Given the description of an element on the screen output the (x, y) to click on. 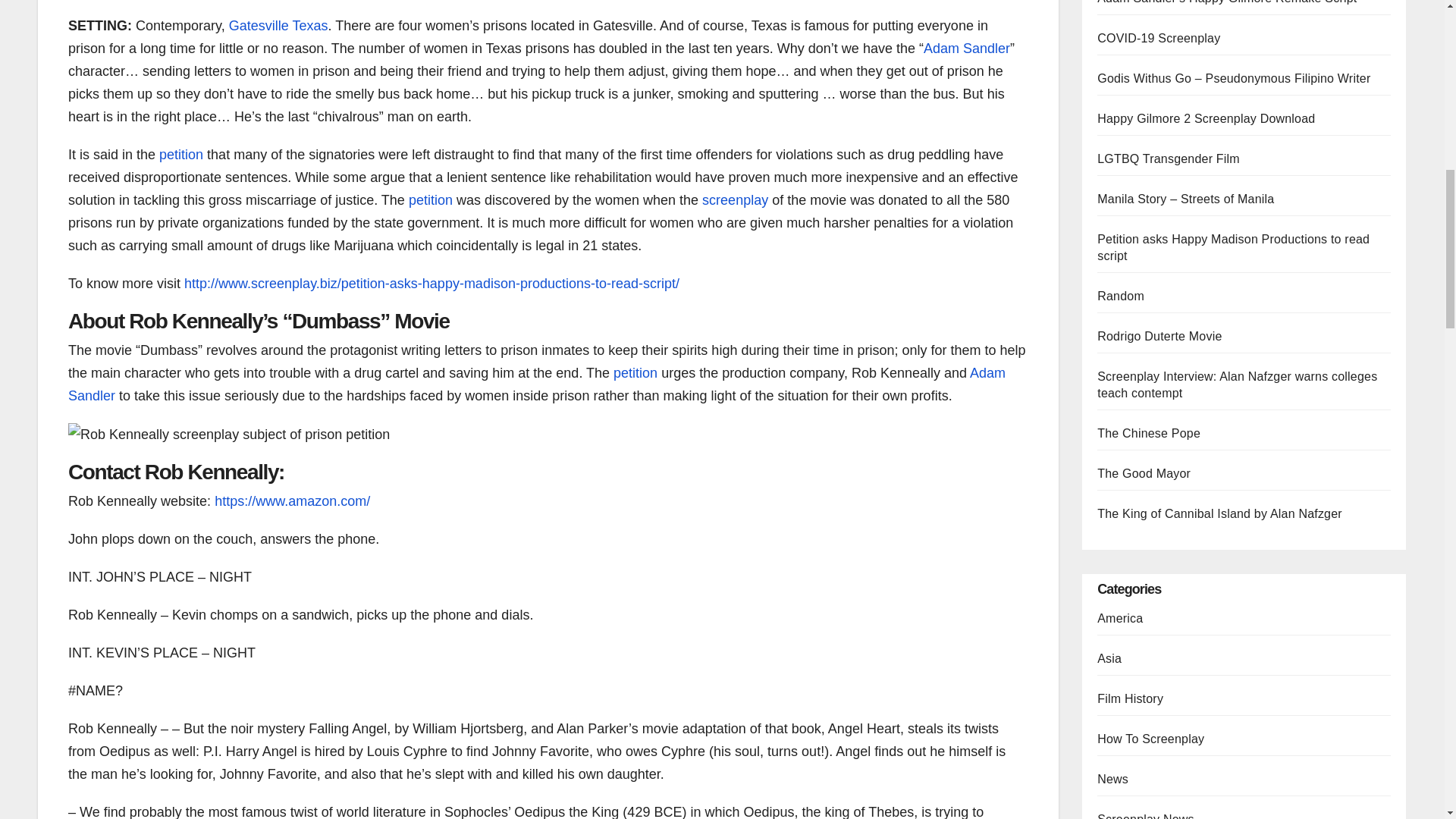
petition (635, 372)
Rob Kenneally screenplay subject of prison petition (229, 434)
Adam Sandler (966, 48)
Adam Sandler (537, 384)
Gatesville Texas (278, 25)
petition (430, 200)
screenplay (734, 200)
petition (180, 154)
